Given the description of an element on the screen output the (x, y) to click on. 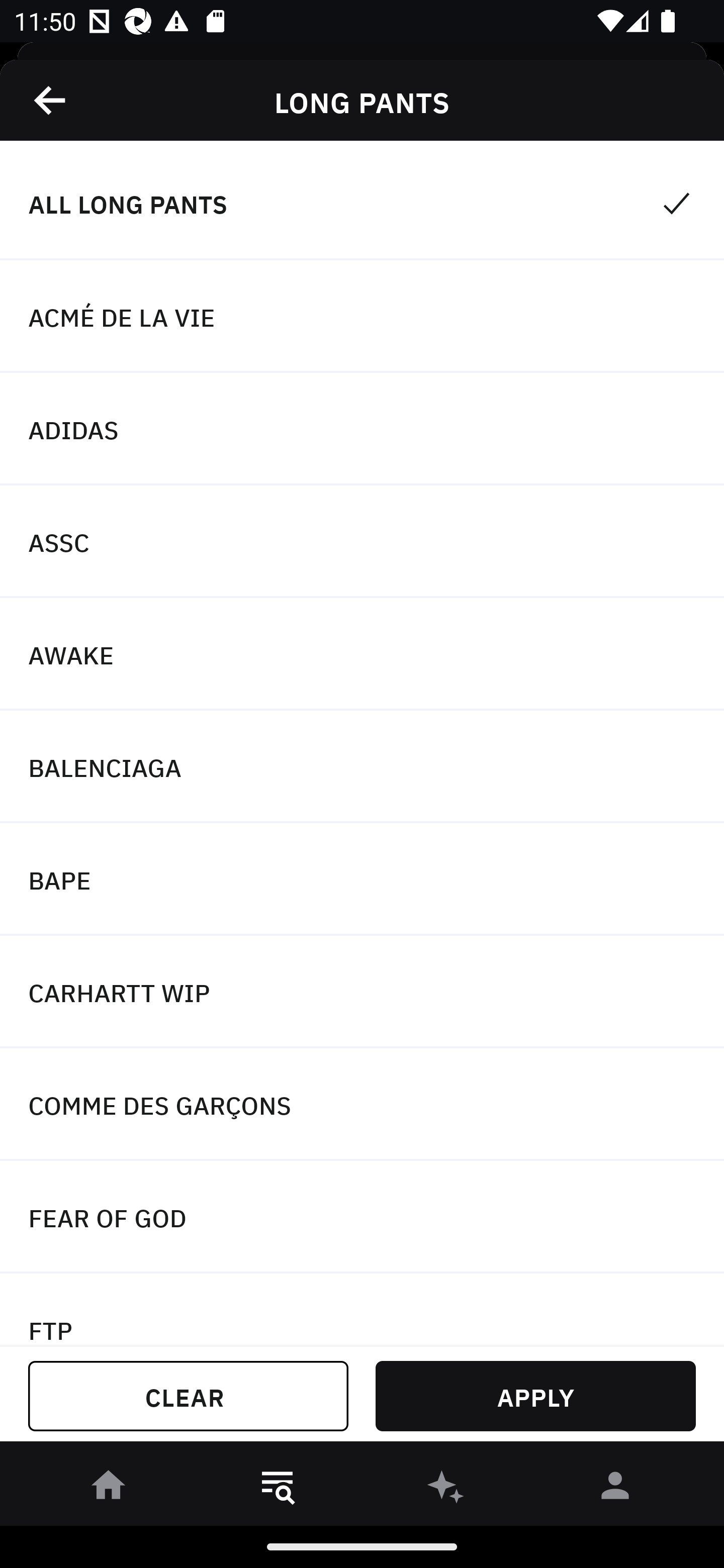
 (50, 100)
ALL LONG PANTS  (362, 203)
ACMÉ DE LA VIE (362, 316)
ADIDAS (362, 429)
ASSC (362, 541)
AWAKE (362, 653)
BALENCIAGA (362, 766)
BAPE (362, 879)
CARHARTT WIP (362, 992)
COMME DES GARÇONS (362, 1104)
FEAR OF GOD (362, 1216)
FTP (362, 1309)
CLEAR  (188, 1396)
APPLY (535, 1396)
󰋜 (108, 1488)
󱎸 (277, 1488)
󰫢 (446, 1488)
󰀄 (615, 1488)
